Given the description of an element on the screen output the (x, y) to click on. 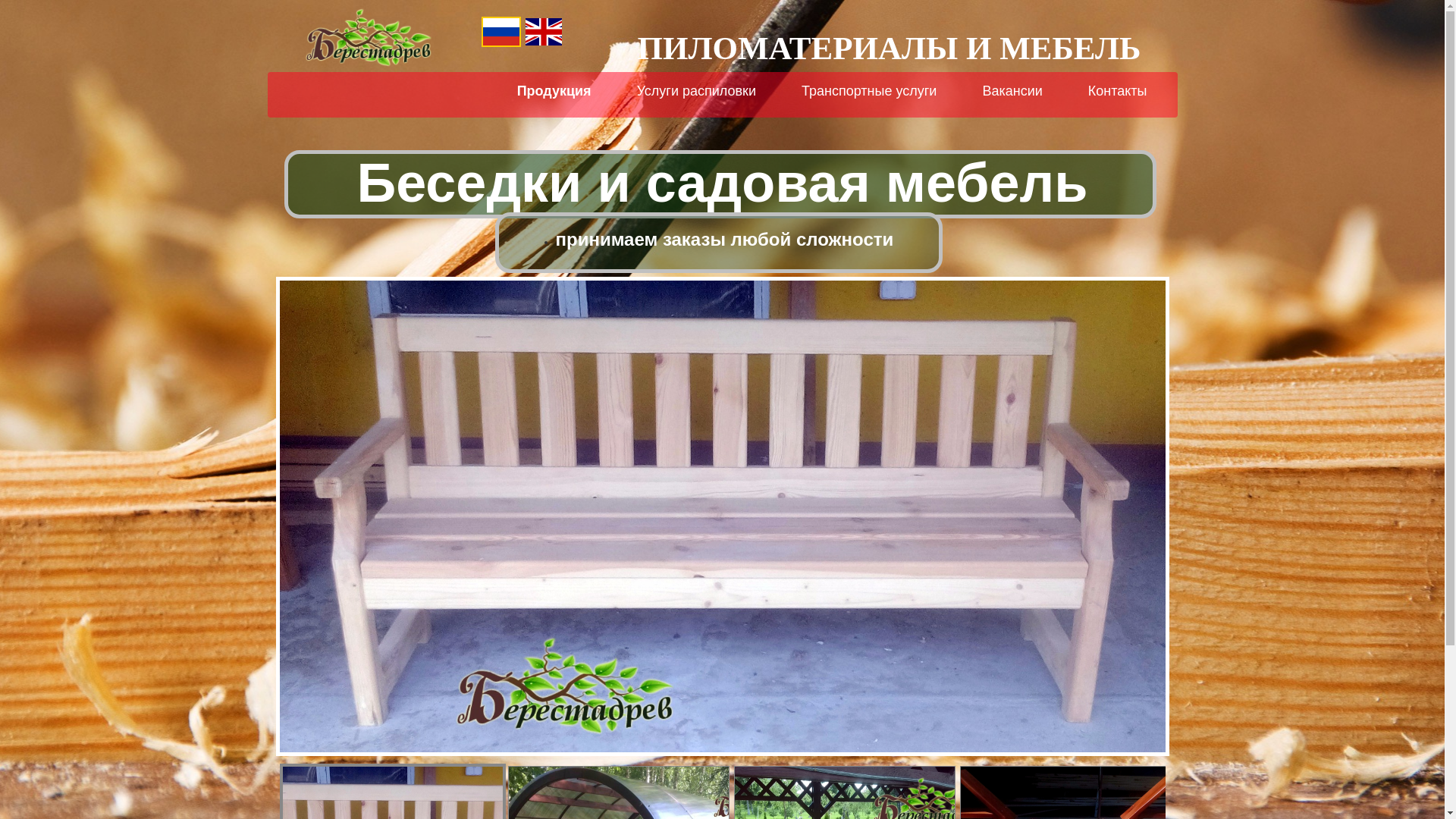
English Element type: hover (542, 31)
